Given the description of an element on the screen output the (x, y) to click on. 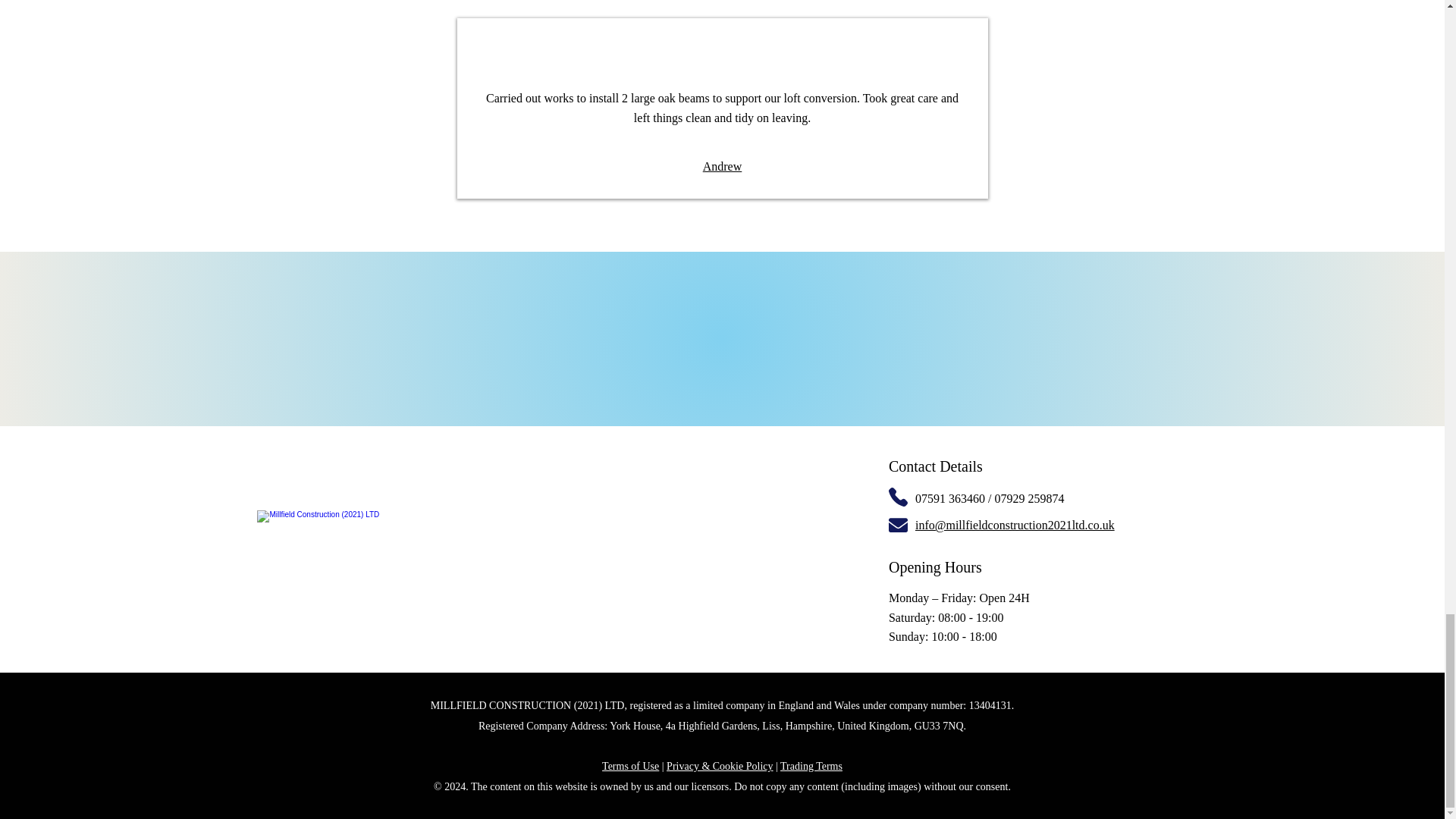
Andrew (722, 165)
Trading Terms (811, 766)
Terms of Use (630, 766)
